Given the description of an element on the screen output the (x, y) to click on. 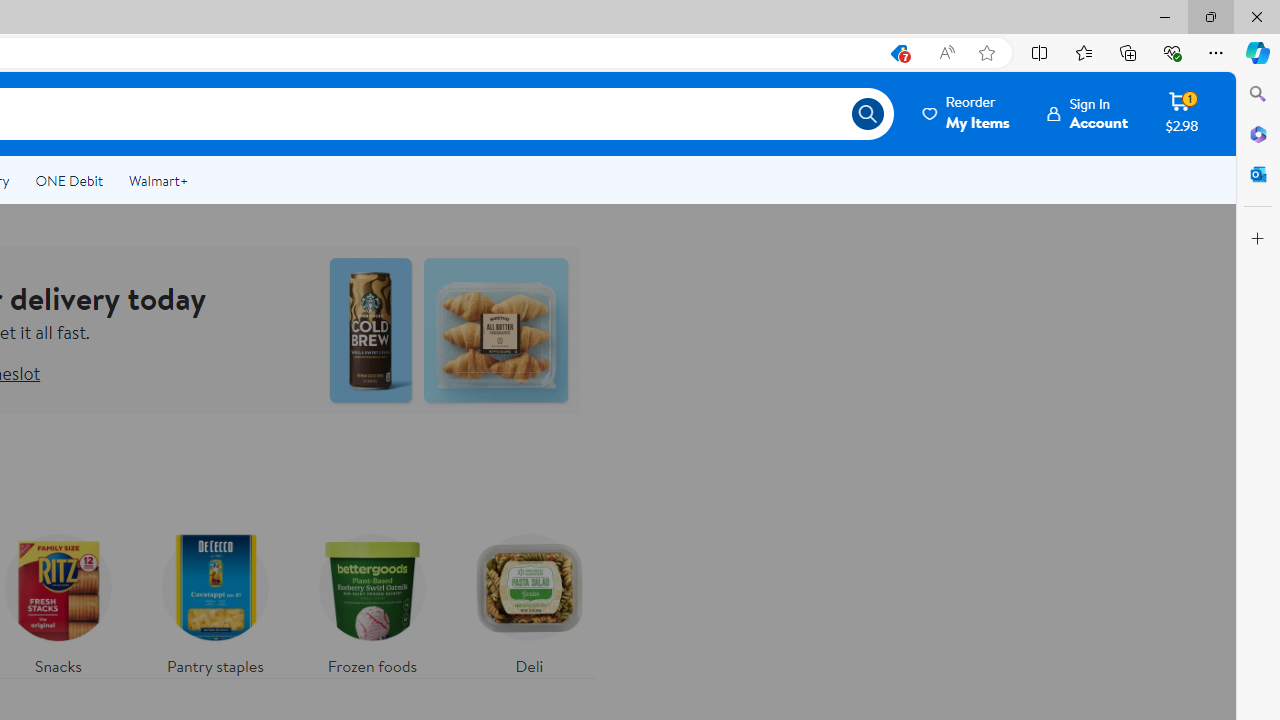
Sign In Account (1088, 113)
Pantry staples (214, 599)
Frozen foods (371, 599)
Deli (529, 599)
Walmart+ (158, 180)
ReorderMy Items (967, 113)
Search icon (867, 113)
